Given the description of an element on the screen output the (x, y) to click on. 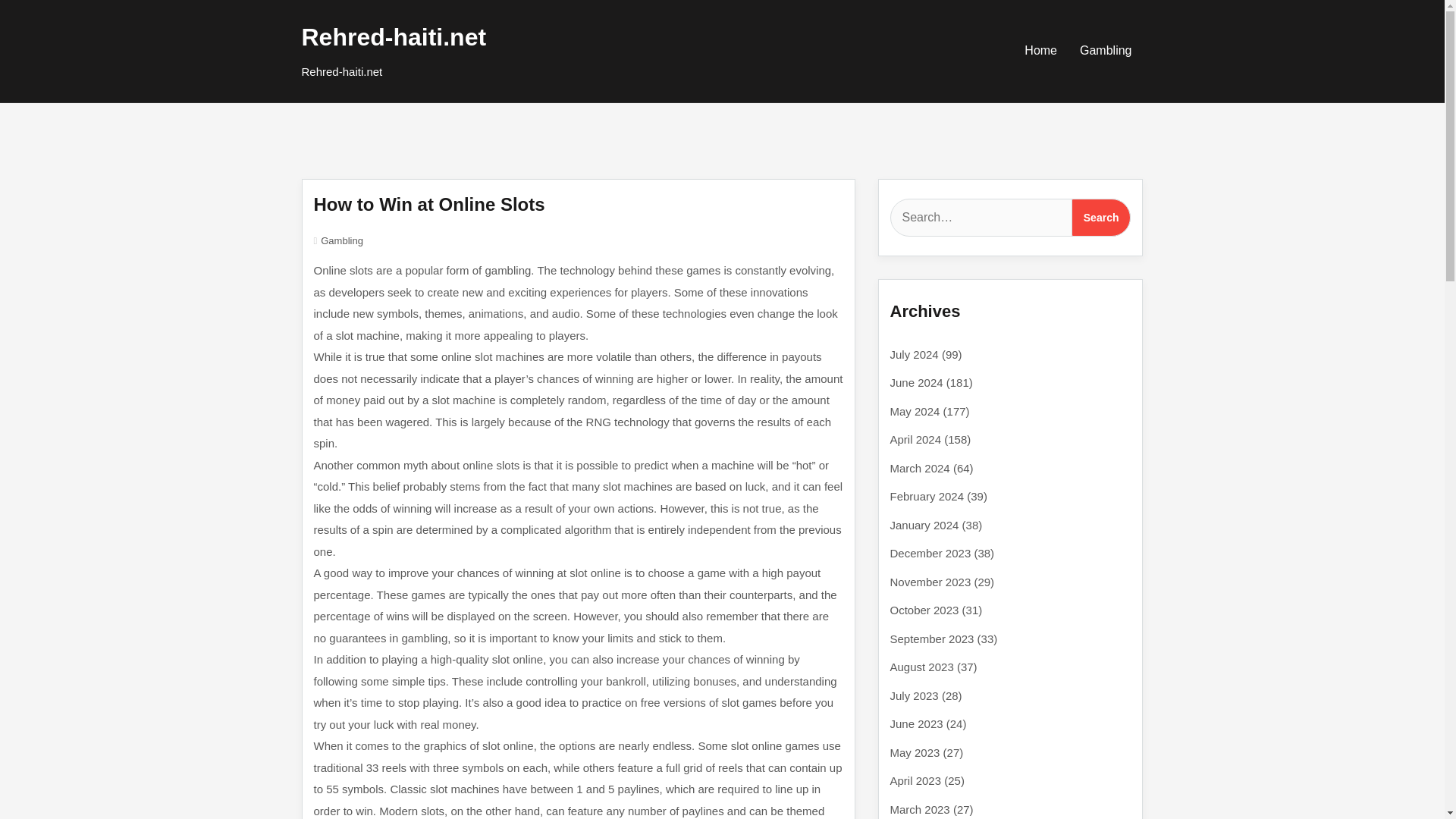
January 2024 (924, 524)
April 2024 (915, 439)
March 2023 (919, 808)
Gambling (1105, 50)
Search (1101, 217)
How to Win at Online Slots (429, 204)
April 2023 (915, 780)
July 2023 (914, 694)
August 2023 (921, 666)
July 2024 (914, 353)
May 2023 (914, 752)
Gambling (1105, 50)
November 2023 (930, 581)
Gambling (341, 240)
Rehred-haiti.net (393, 36)
